Given the description of an element on the screen output the (x, y) to click on. 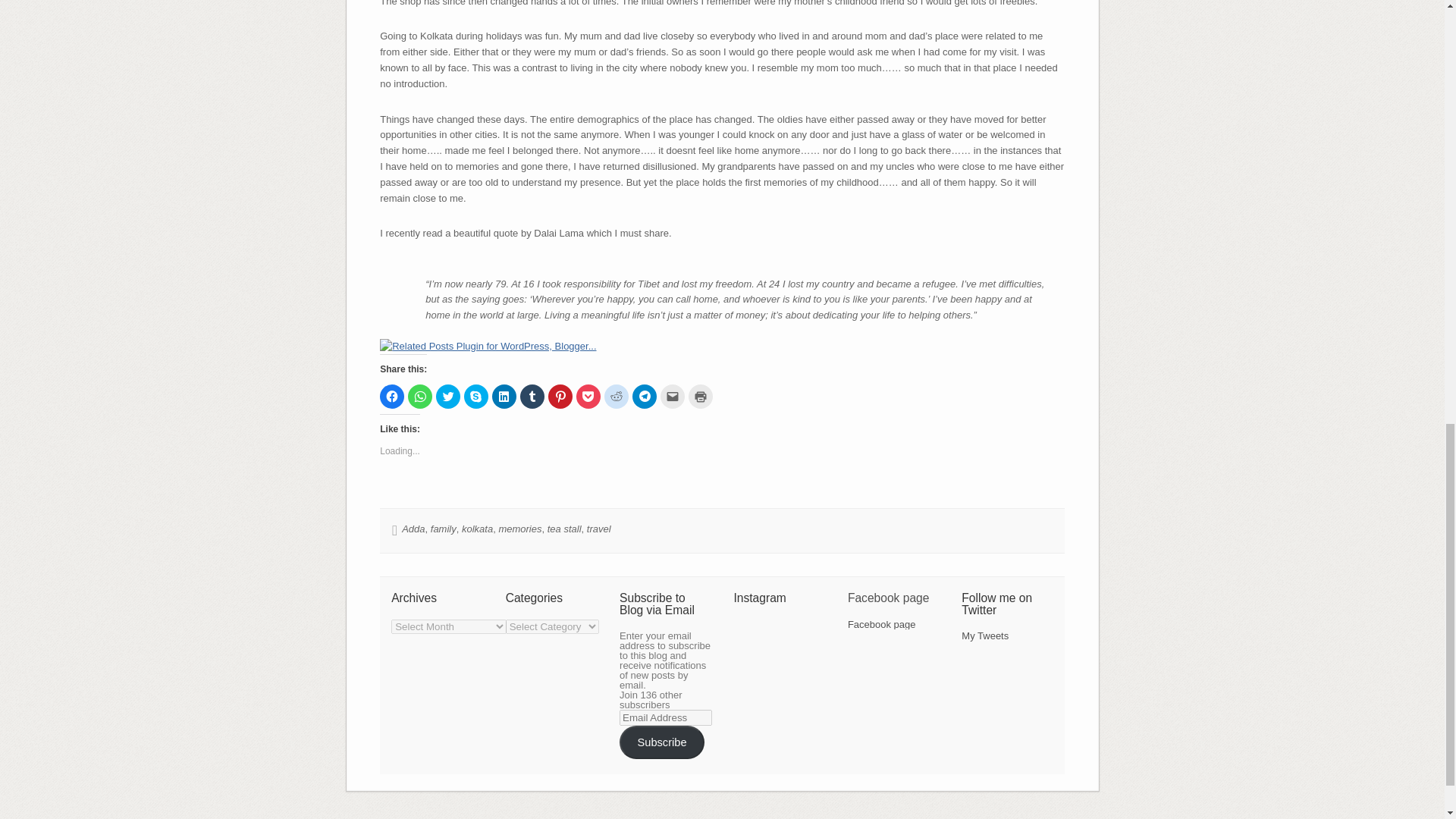
Adda (413, 528)
Subscribe (662, 742)
Click to share on LinkedIn (504, 396)
Click to share on Facebook (392, 396)
Click to share on Telegram (643, 396)
Click to share on Skype (475, 396)
Facebook page (881, 624)
Click to print (700, 396)
Click to share on WhatsApp (419, 396)
tea stall (563, 528)
